Given the description of an element on the screen output the (x, y) to click on. 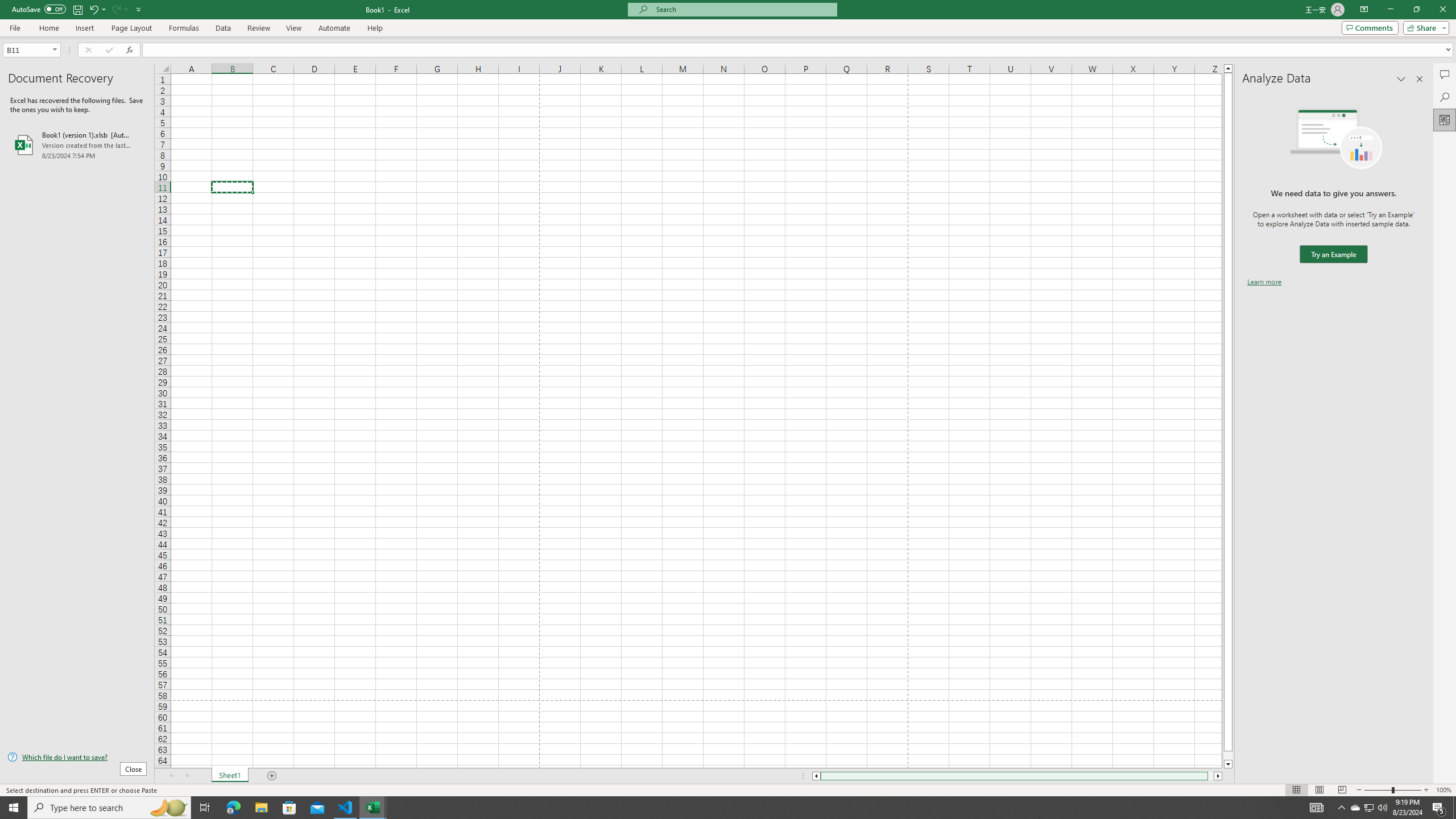
Learn more (1264, 281)
Analyze Data (1444, 119)
Automate (334, 28)
Task Pane Options (1400, 78)
